Given the description of an element on the screen output the (x, y) to click on. 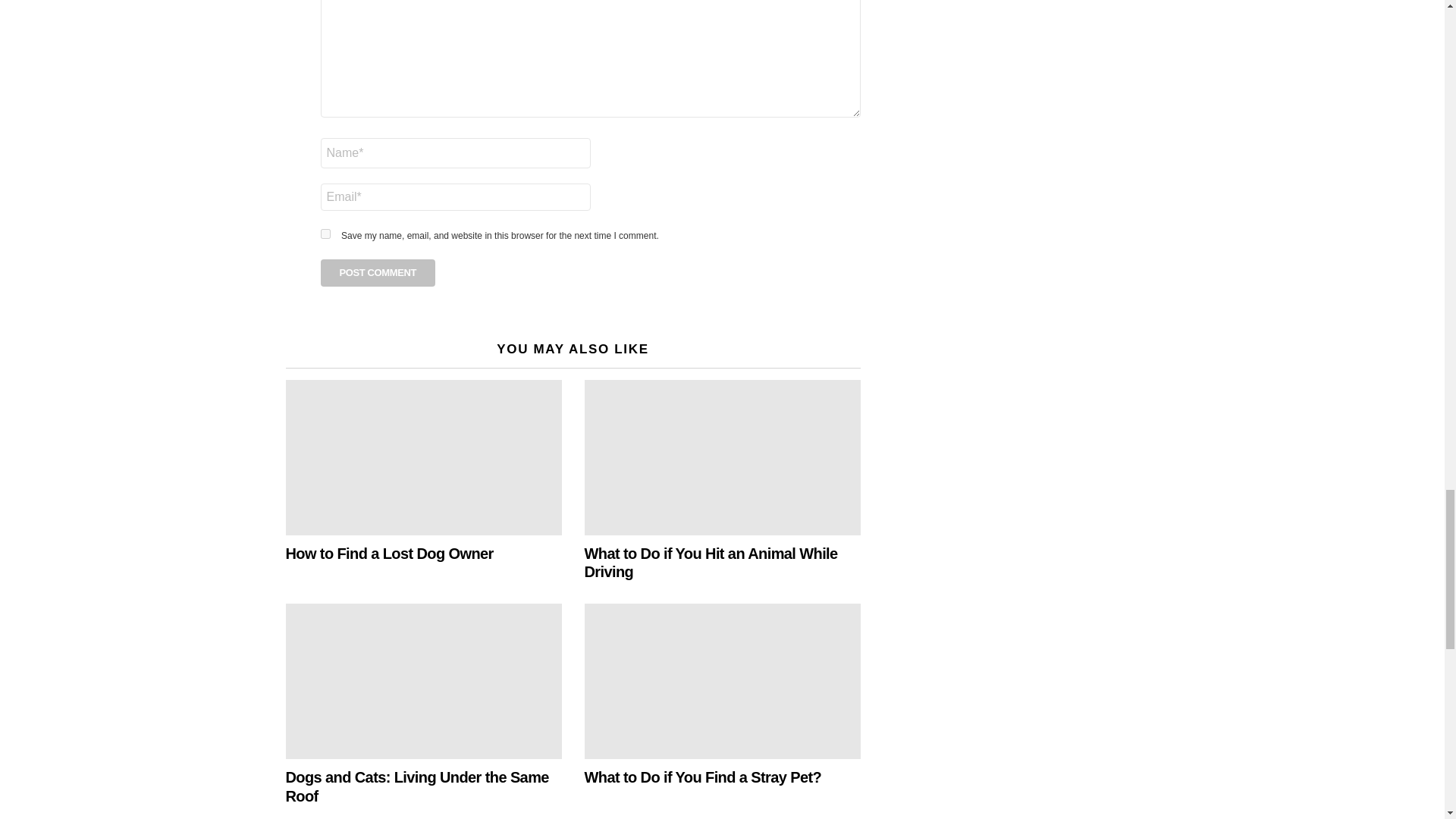
What to Do if You Find a Stray Pet? (721, 681)
Dogs and Cats: Living Under the Same Roof (422, 681)
What to Do if You Hit an Animal While Driving (721, 457)
yes (325, 234)
Post Comment (377, 272)
How to Find a Lost Dog Owner (422, 457)
